Given the description of an element on the screen output the (x, y) to click on. 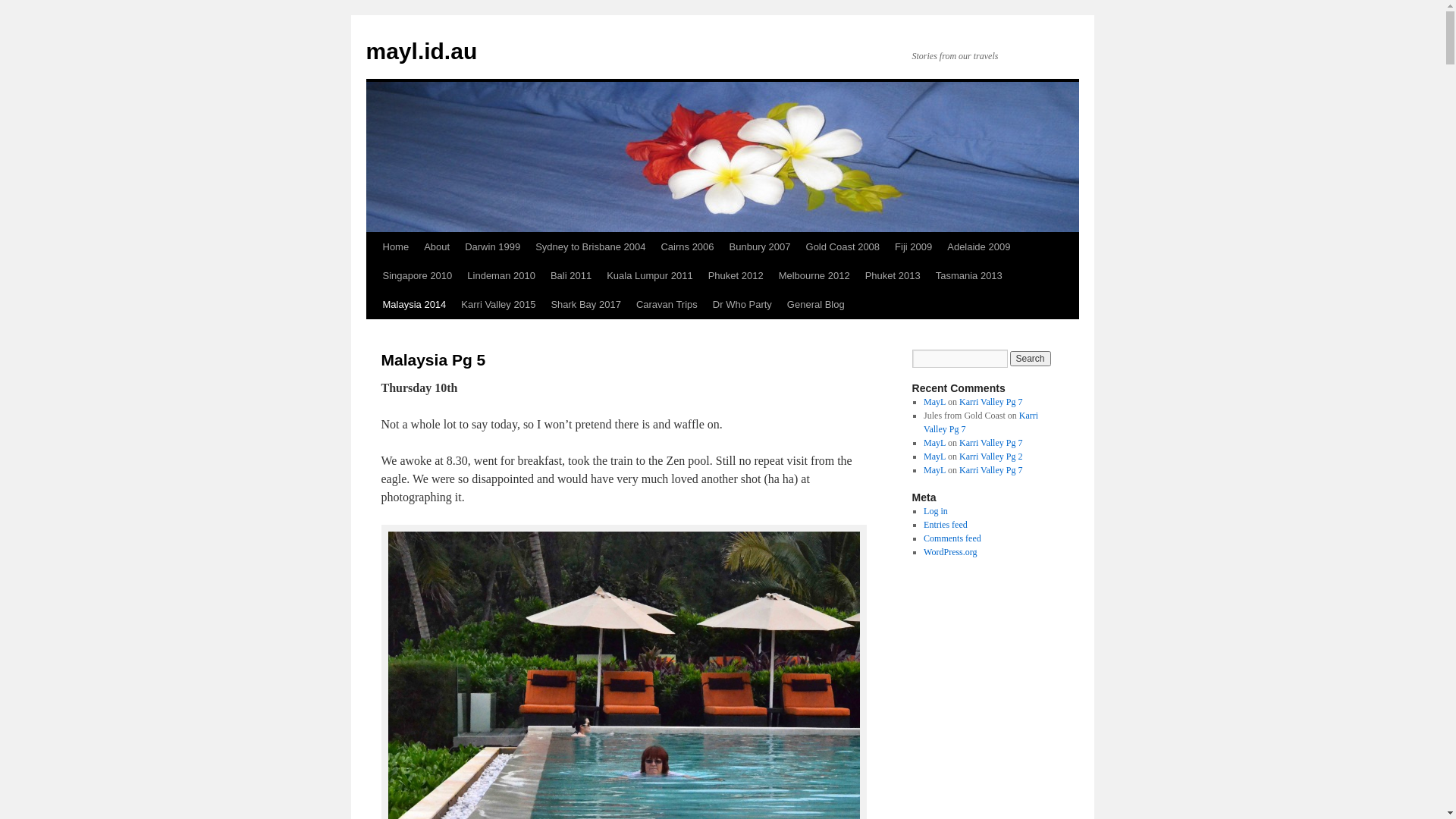
MayL Element type: text (934, 456)
Search Element type: text (1030, 358)
Phuket 2013 Element type: text (892, 275)
Dr Who Party Element type: text (742, 304)
Adelaide 2009 Element type: text (978, 246)
MayL Element type: text (934, 442)
Karri Valley Pg 7 Element type: text (990, 469)
Darwin 1999 Element type: text (492, 246)
Karri Valley Pg 7 Element type: text (990, 401)
Sydney to Brisbane 2004 Element type: text (589, 246)
Caravan Trips Element type: text (666, 304)
Entries feed Element type: text (945, 524)
Cairns 2006 Element type: text (686, 246)
Karri Valley Pg 7 Element type: text (980, 422)
Fiji 2009 Element type: text (913, 246)
Bunbury 2007 Element type: text (759, 246)
Karri Valley Pg 2 Element type: text (990, 456)
Malaysia 2014 Element type: text (413, 304)
General Blog Element type: text (815, 304)
Melbourne 2012 Element type: text (814, 275)
Lindeman 2010 Element type: text (500, 275)
WordPress.org Element type: text (949, 551)
Karri Valley 2015 Element type: text (497, 304)
Skip to content Element type: text (372, 275)
About Element type: text (436, 246)
Home Element type: text (395, 246)
Gold Coast 2008 Element type: text (843, 246)
Log in Element type: text (935, 510)
Tasmania 2013 Element type: text (969, 275)
Shark Bay 2017 Element type: text (585, 304)
mayl.id.au Element type: text (420, 50)
Bali 2011 Element type: text (570, 275)
MayL Element type: text (934, 401)
Phuket 2012 Element type: text (735, 275)
Kuala Lumpur 2011 Element type: text (649, 275)
MayL Element type: text (934, 469)
Comments feed Element type: text (952, 538)
Karri Valley Pg 7 Element type: text (990, 442)
Singapore 2010 Element type: text (416, 275)
